Given the description of an element on the screen output the (x, y) to click on. 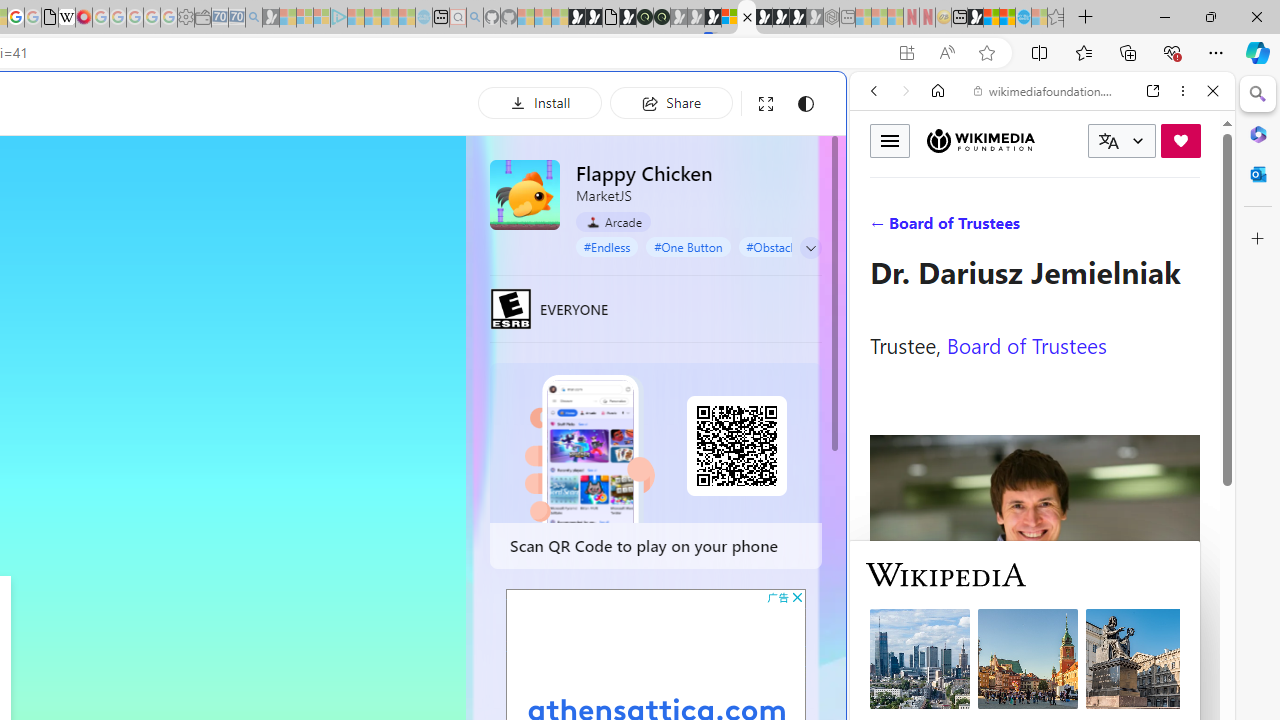
Search Filter, WEB (882, 228)
Search the web (1051, 137)
Sign in to your account (729, 17)
SEARCH TOOLS (1093, 228)
App available. Install Flappy Chicken (906, 53)
Class: expand-arrow neutral (810, 247)
Settings - Sleeping (185, 17)
New tab (959, 17)
CURRENT LANGUAGE: (1121, 141)
